Given the description of an element on the screen output the (x, y) to click on. 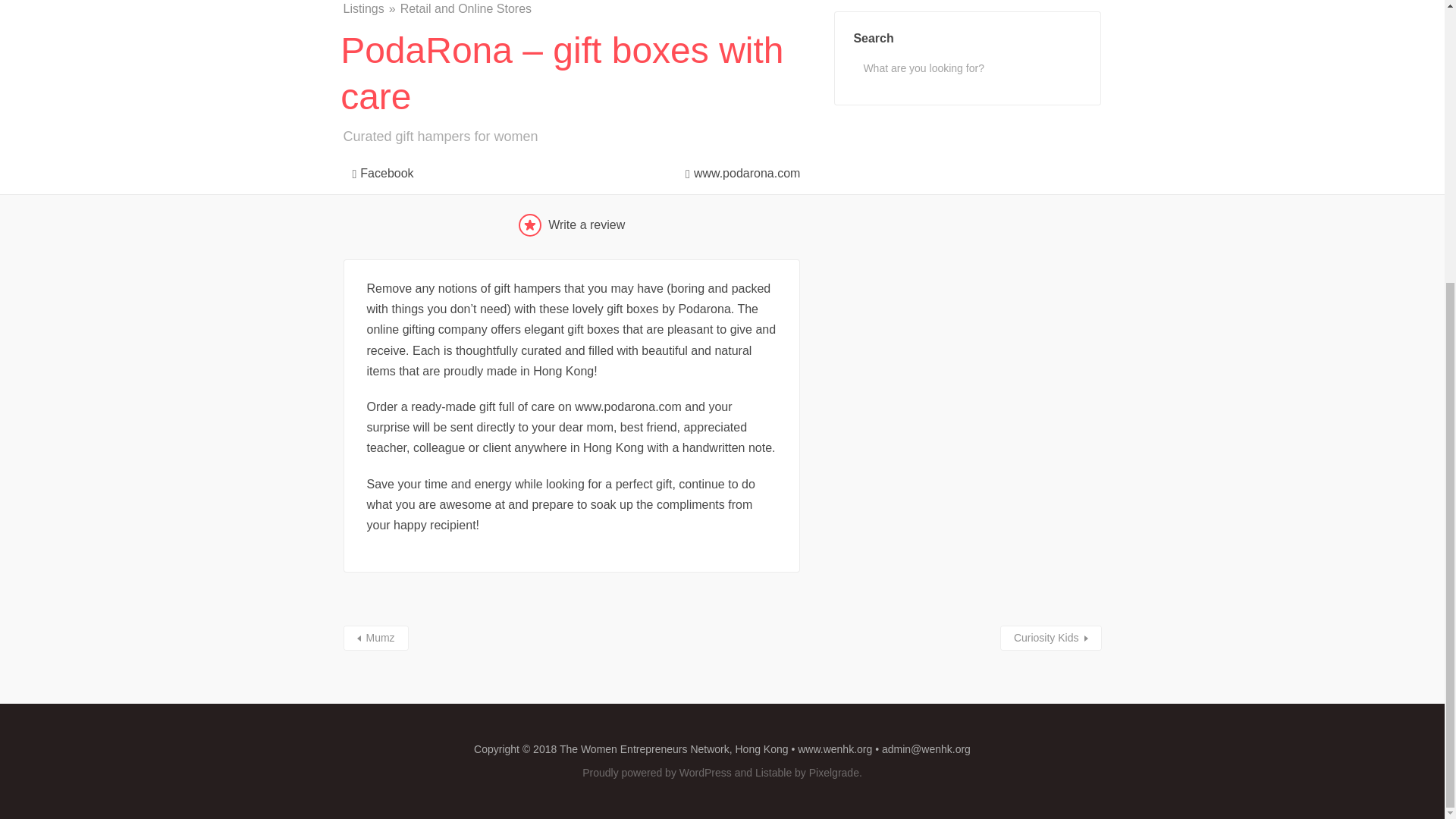
Listings (370, 9)
Mumz (374, 637)
Write a review (572, 224)
Pixelgrade (834, 772)
Listable (773, 772)
Facebook (377, 170)
Retail and Online Stores (465, 9)
www.podarona.com (738, 170)
Curiosity Kids (1051, 637)
Proudly powered by WordPress (657, 772)
